Given the description of an element on the screen output the (x, y) to click on. 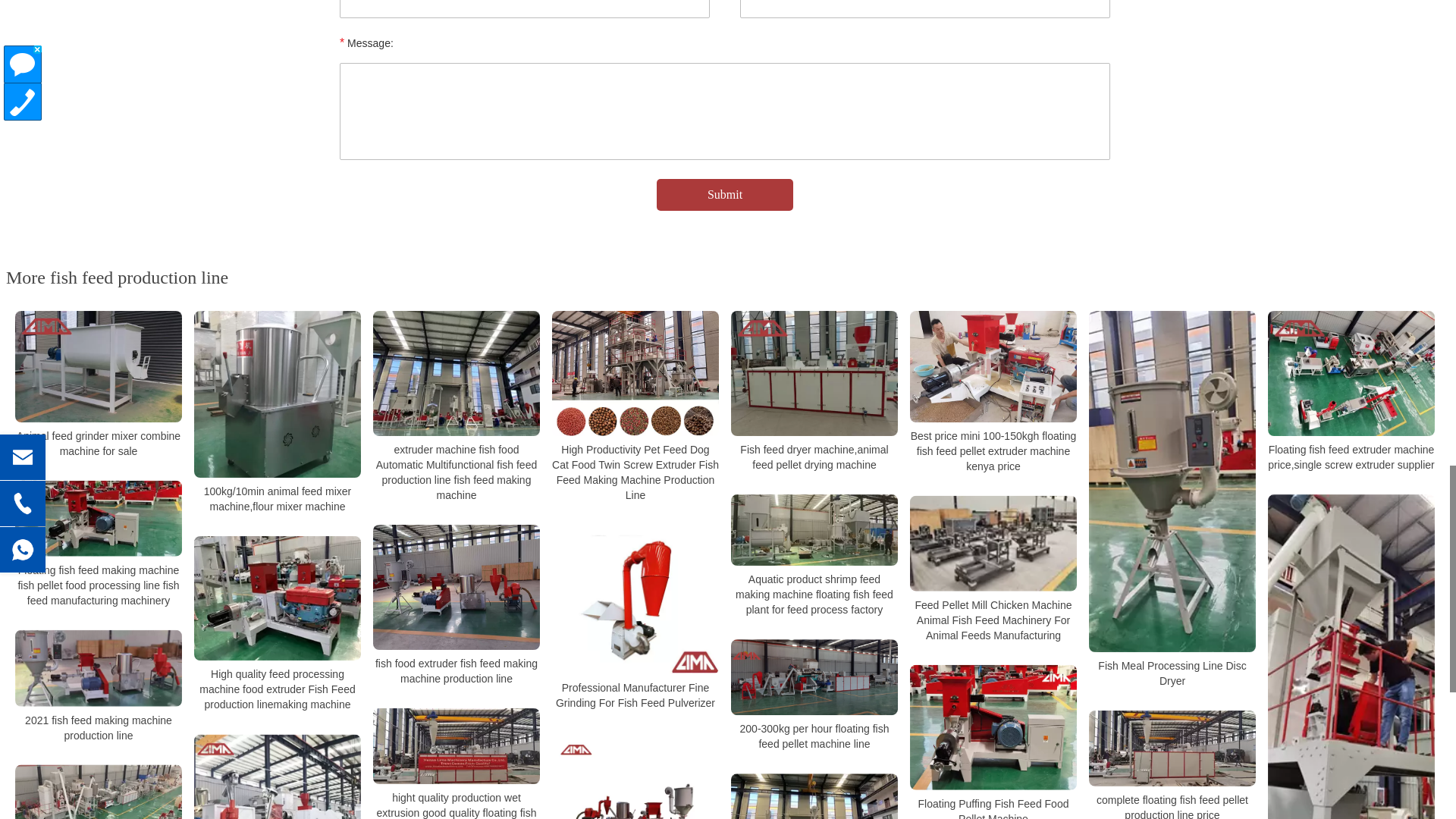
Animal feed grinder mixer combine machine for sale (98, 366)
Animal feed grinder mixer combine machine for sale (98, 443)
Submit (724, 194)
Submit (724, 194)
